Given the description of an element on the screen output the (x, y) to click on. 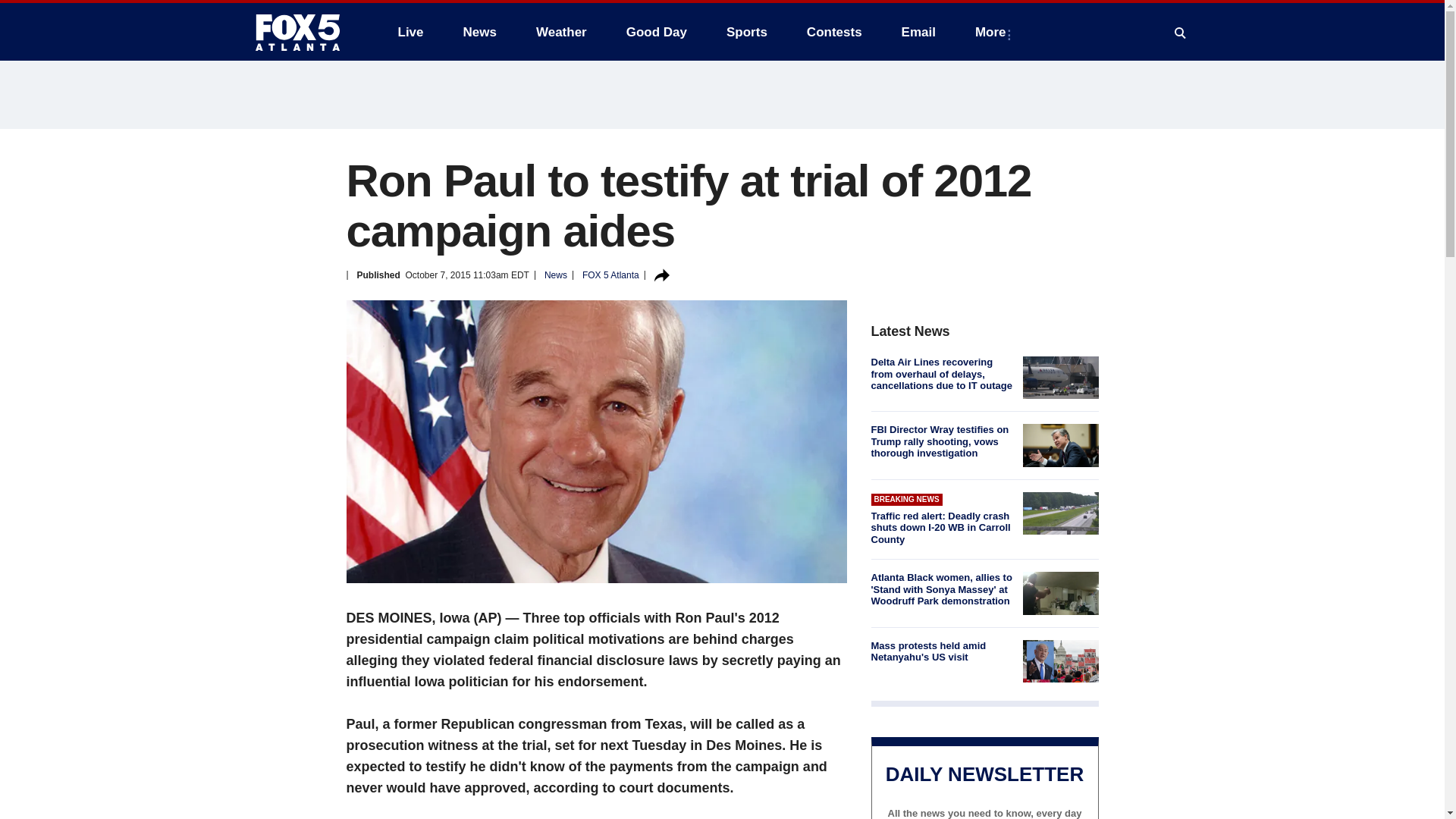
More (993, 32)
Sports (746, 32)
News (479, 32)
Live (410, 32)
Weather (561, 32)
Good Day (656, 32)
Contests (834, 32)
Email (918, 32)
